Given the description of an element on the screen output the (x, y) to click on. 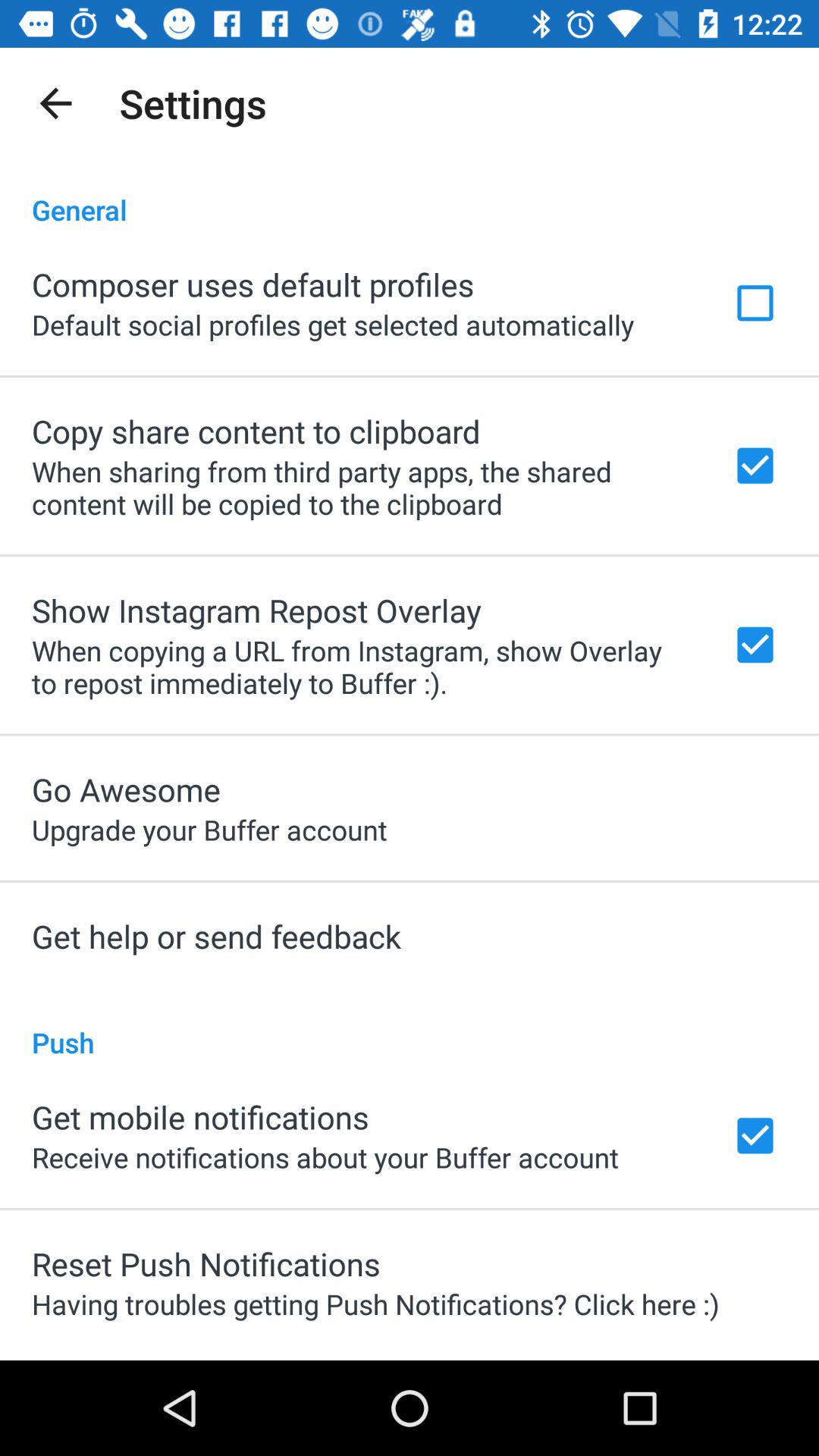
press icon below the get mobile notifications item (324, 1157)
